Given the description of an element on the screen output the (x, y) to click on. 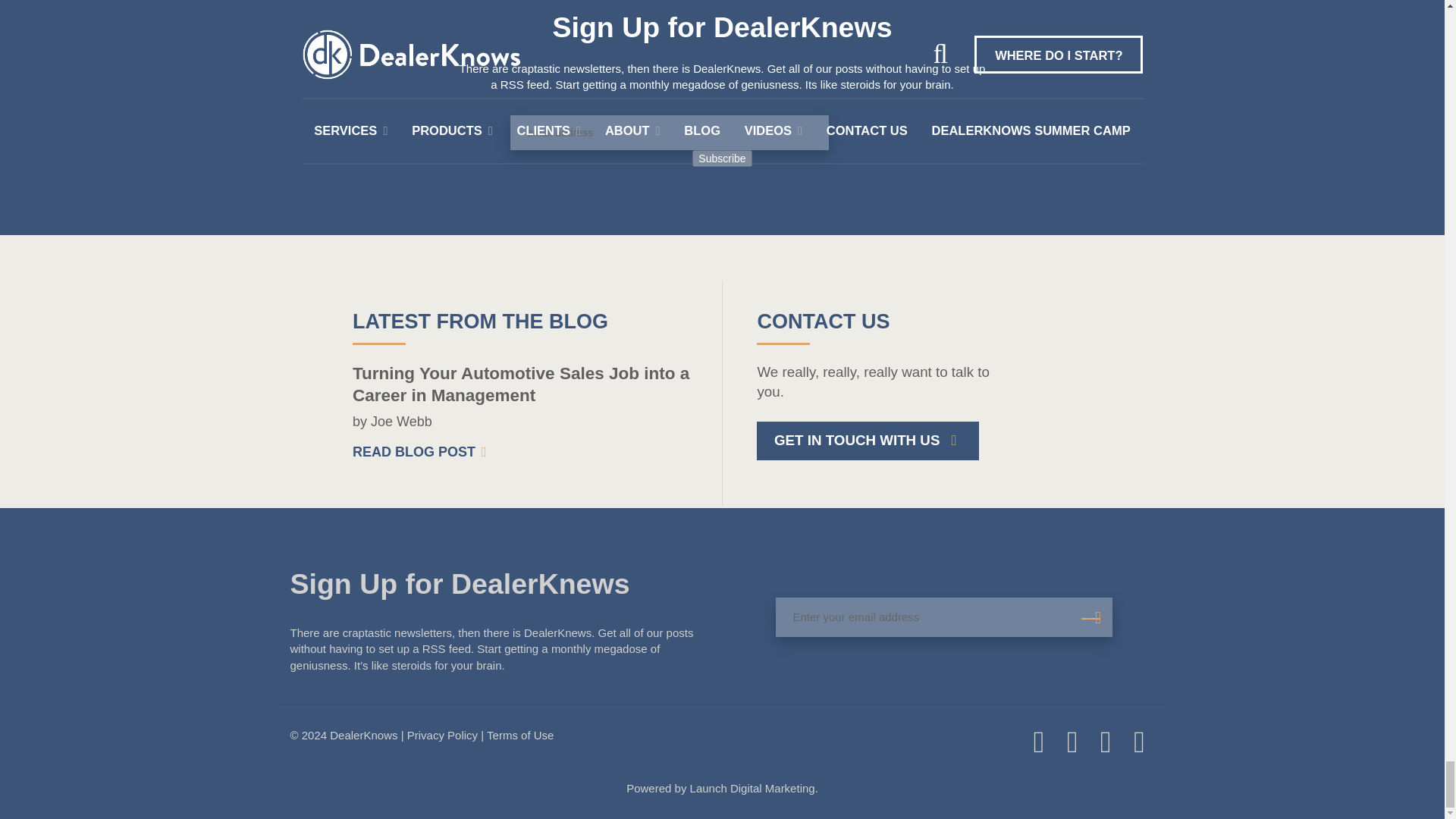
Subscribe (722, 158)
Chicago Digital Marketing Agency (754, 788)
